Given the description of an element on the screen output the (x, y) to click on. 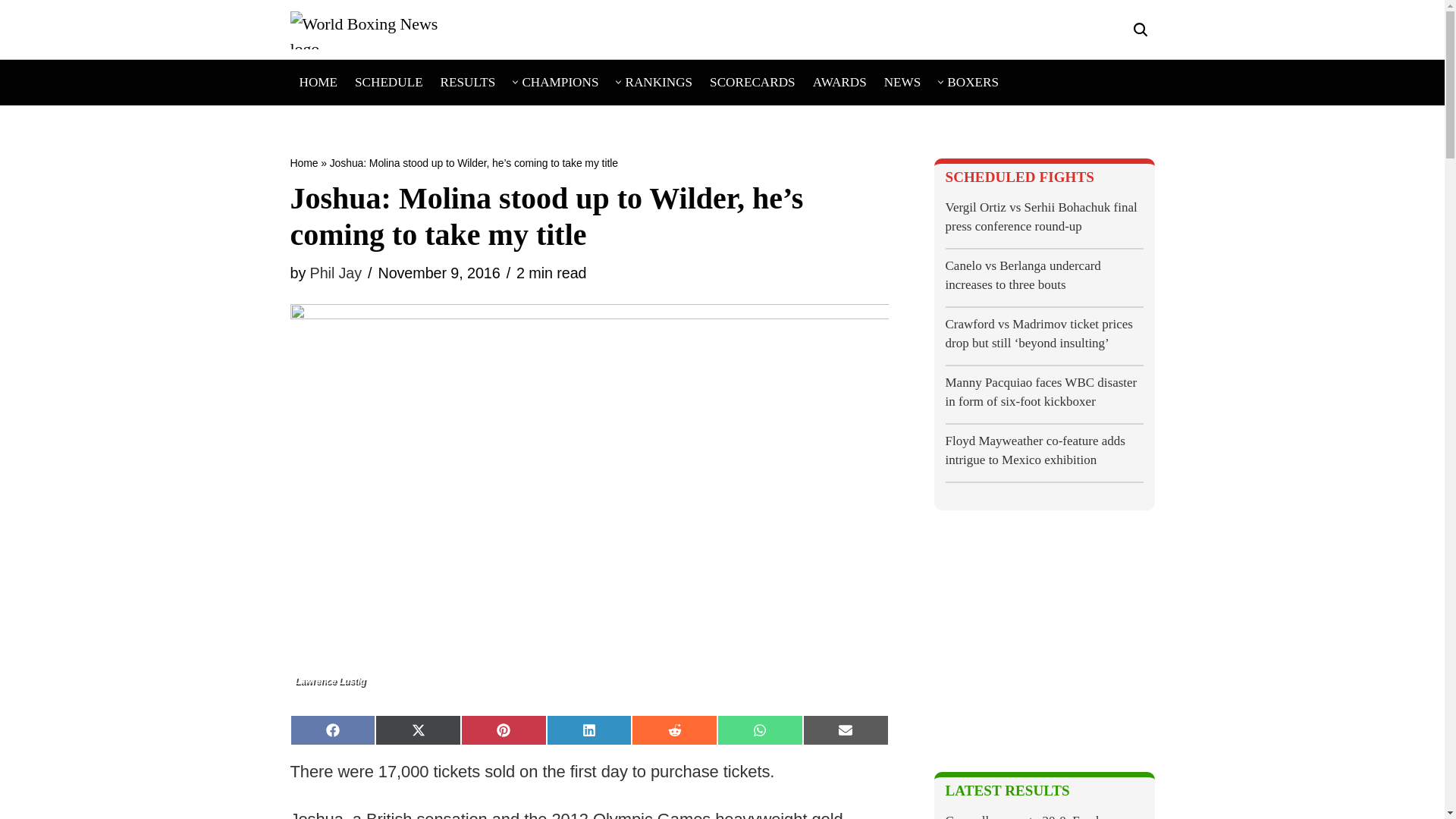
CHAMPIONS (559, 81)
Skip to content (11, 31)
SCHEDULE (389, 81)
SCORECARDS (752, 81)
NEWS (902, 81)
RESULTS (468, 81)
BOXERS (972, 81)
HOME (317, 81)
Posts by Phil Jay (335, 272)
RANKINGS (658, 81)
